Given the description of an element on the screen output the (x, y) to click on. 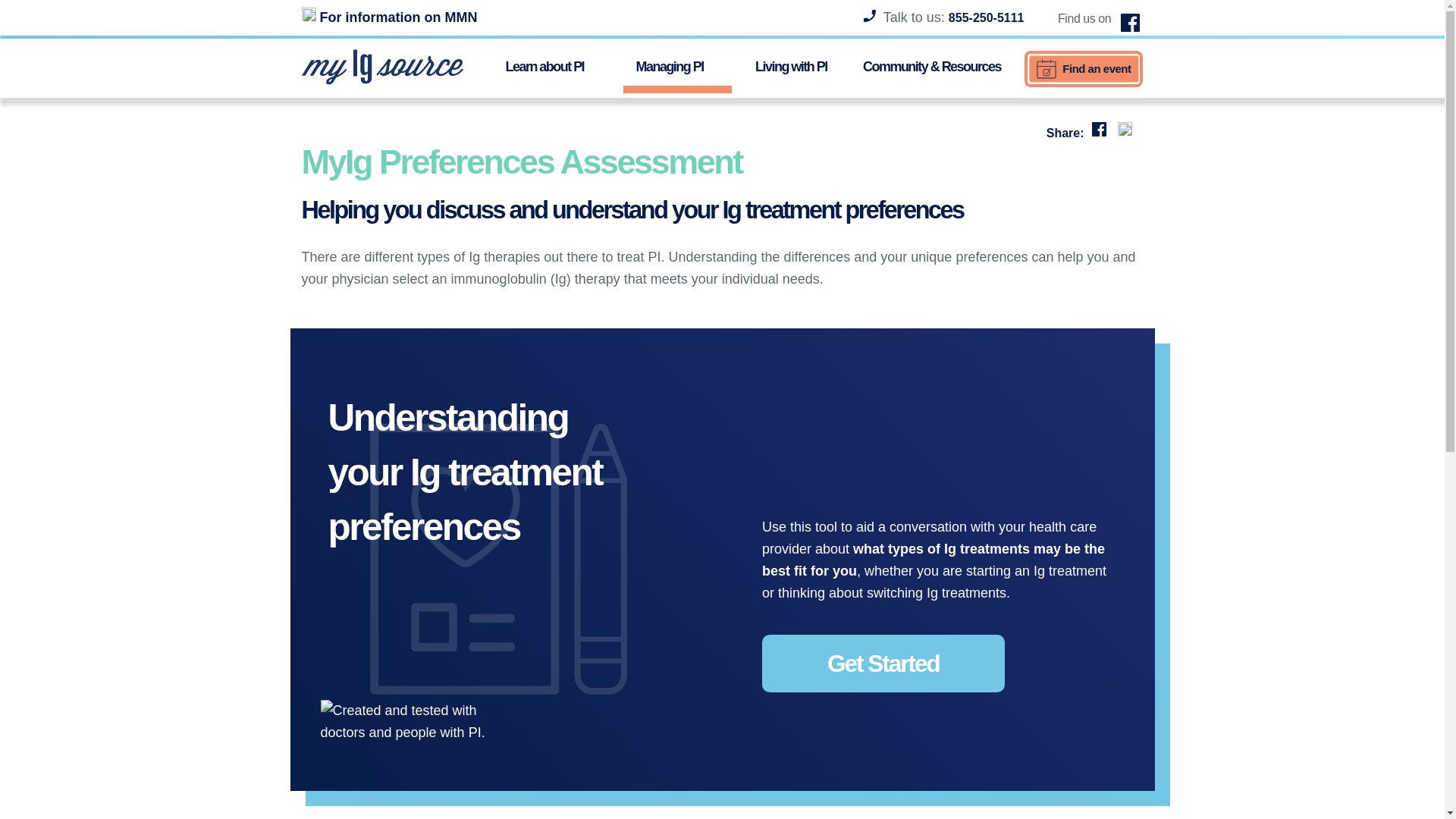
Learn about PI (552, 65)
855-250-5111 (987, 17)
Find an event (1083, 68)
Living with PI (791, 65)
For information on MMN (389, 17)
Get Started (882, 663)
Managing PI (676, 69)
